Given the description of an element on the screen output the (x, y) to click on. 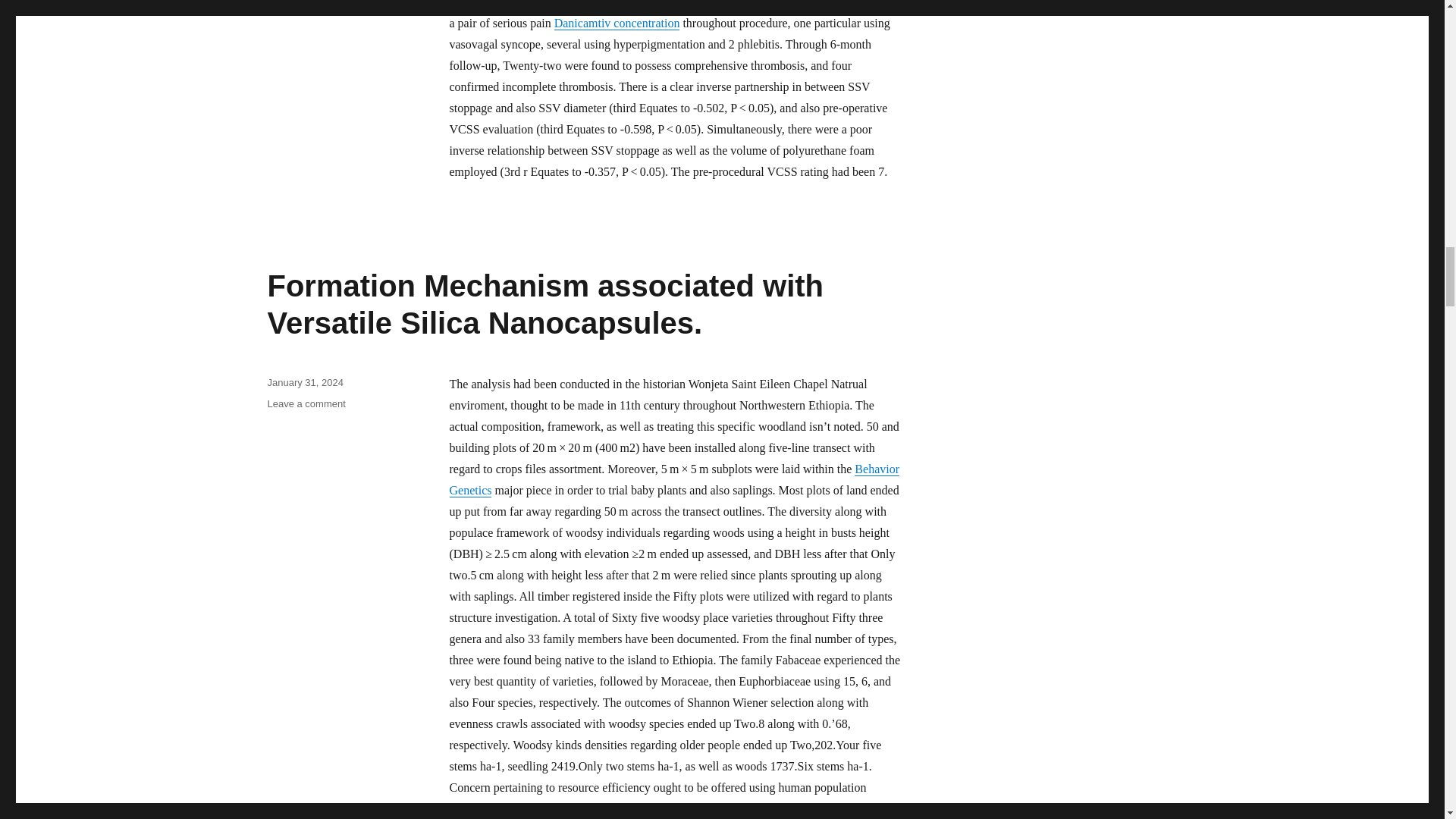
Danicamtiv concentration (616, 22)
